Given the description of an element on the screen output the (x, y) to click on. 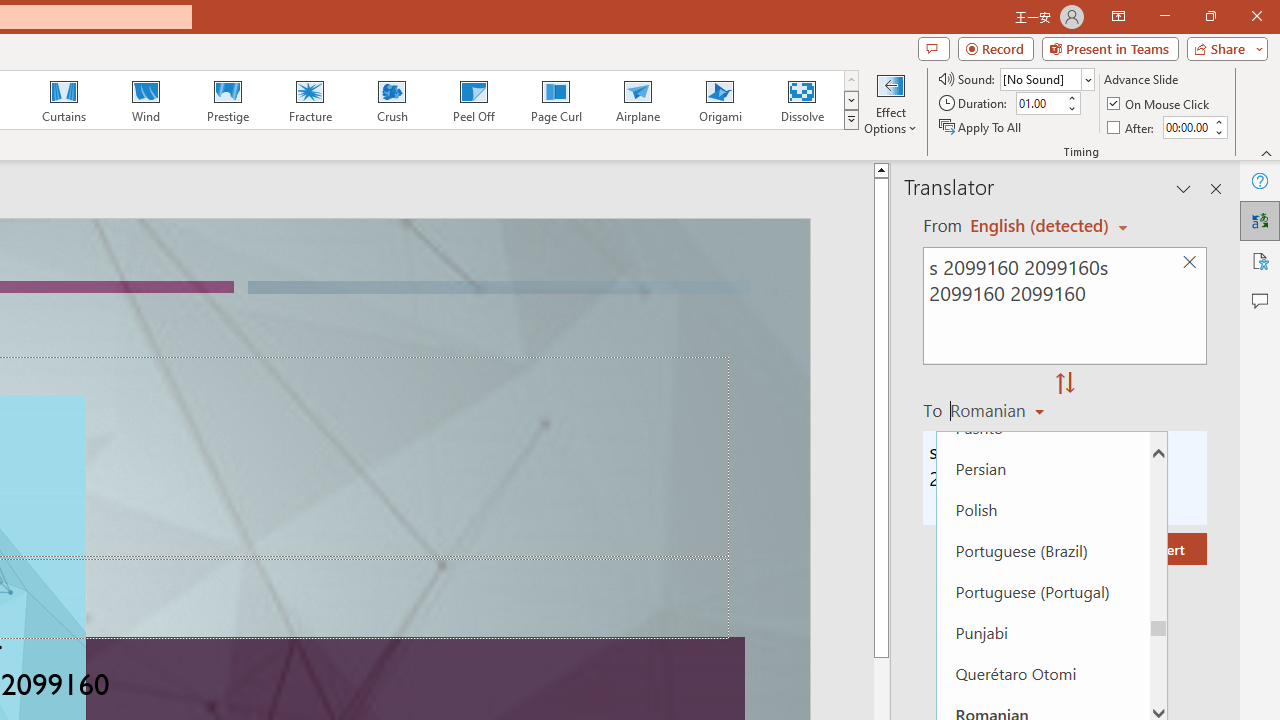
644553698@qq.com (996, 672)
Wang Yian (406, 672)
Copilot (Ctrl+Shift+.) (1241, 82)
